Given the description of an element on the screen output the (x, y) to click on. 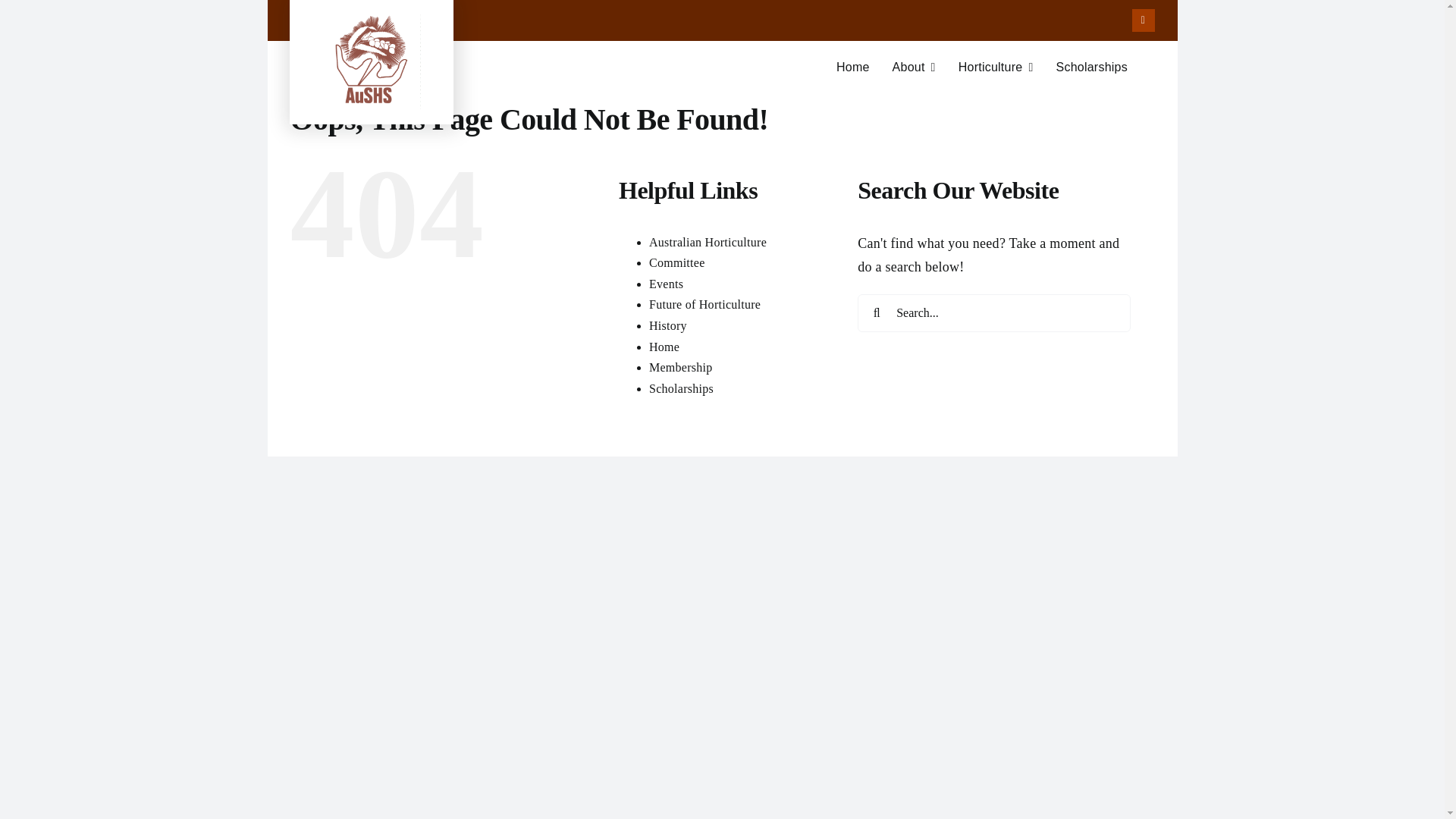
Scholarships (681, 388)
Committee (676, 262)
Australian Horticulture (708, 241)
Future of Horticulture (721, 74)
Events (704, 304)
Membership (665, 283)
Scholarships (681, 367)
Home (1090, 67)
Horticulture (664, 345)
